Given the description of an element on the screen output the (x, y) to click on. 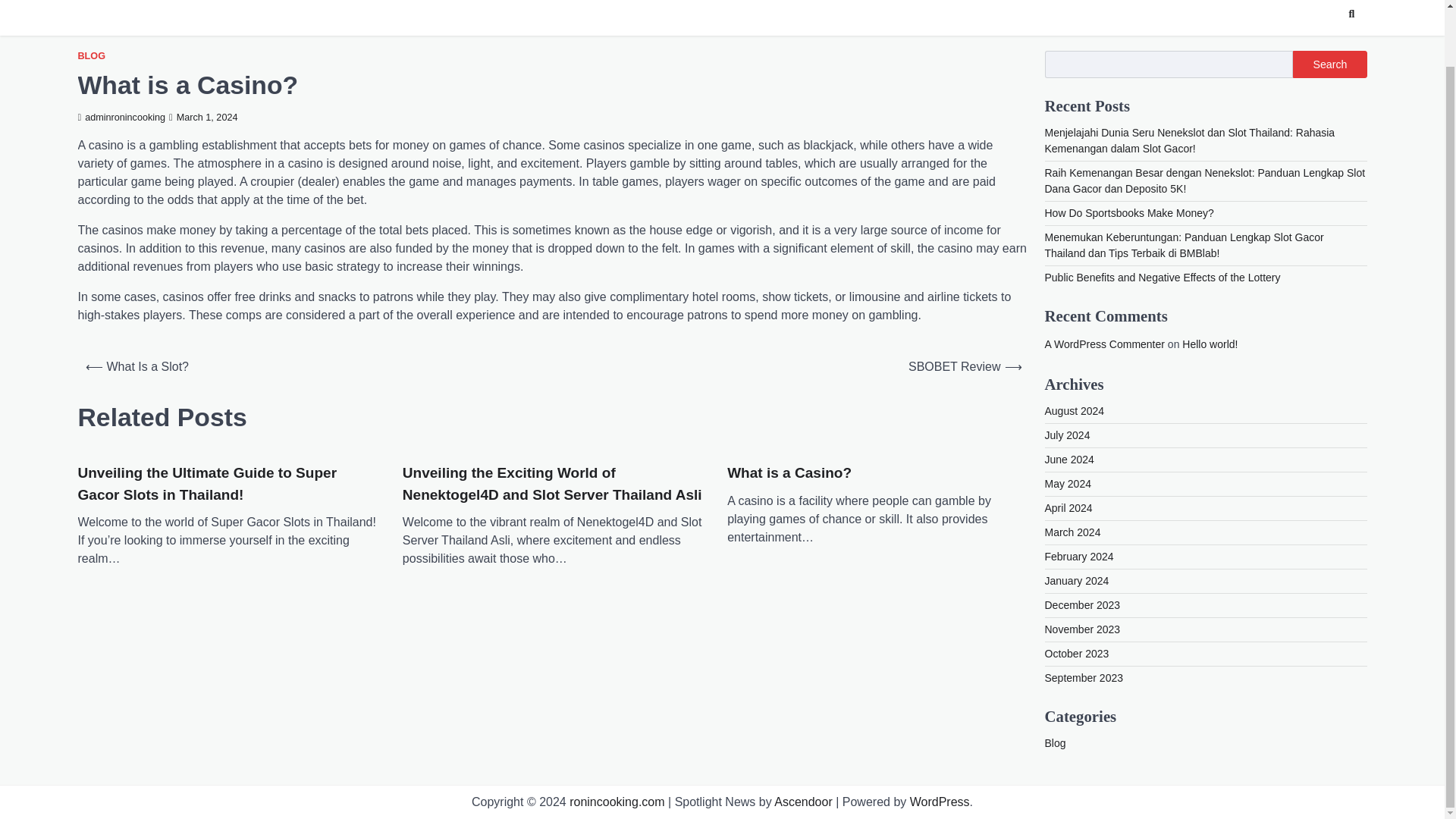
April 2024 (1069, 508)
Blog (1055, 743)
December 2023 (1083, 604)
What is a Casino? (788, 473)
June 2024 (1069, 459)
March 2024 (1072, 532)
September 2023 (1084, 677)
Hello world! (1209, 344)
Ascendoor (803, 801)
WordPress (939, 801)
Public Benefits and Negative Effects of the Lottery (1163, 277)
October 2023 (1077, 653)
February 2024 (1079, 556)
